Given the description of an element on the screen output the (x, y) to click on. 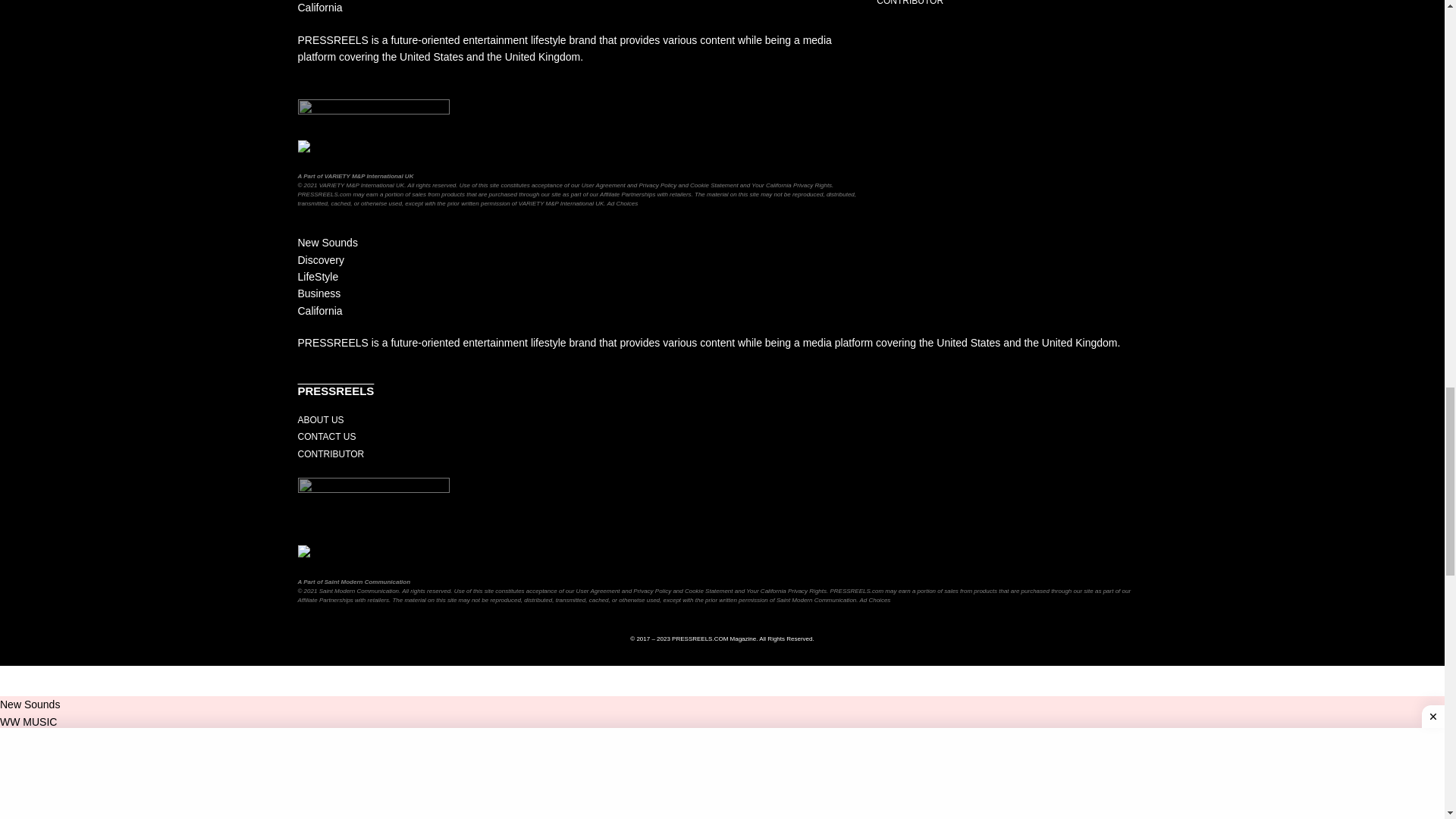
California (22, 5)
DMCA.com Protection Status (371, 147)
DMCA.com Protection Status (371, 552)
National News (34, 119)
Public safety (29, 232)
Entertainment (32, 346)
Consumer (24, 175)
Local (12, 61)
Sports (15, 289)
